Given the description of an element on the screen output the (x, y) to click on. 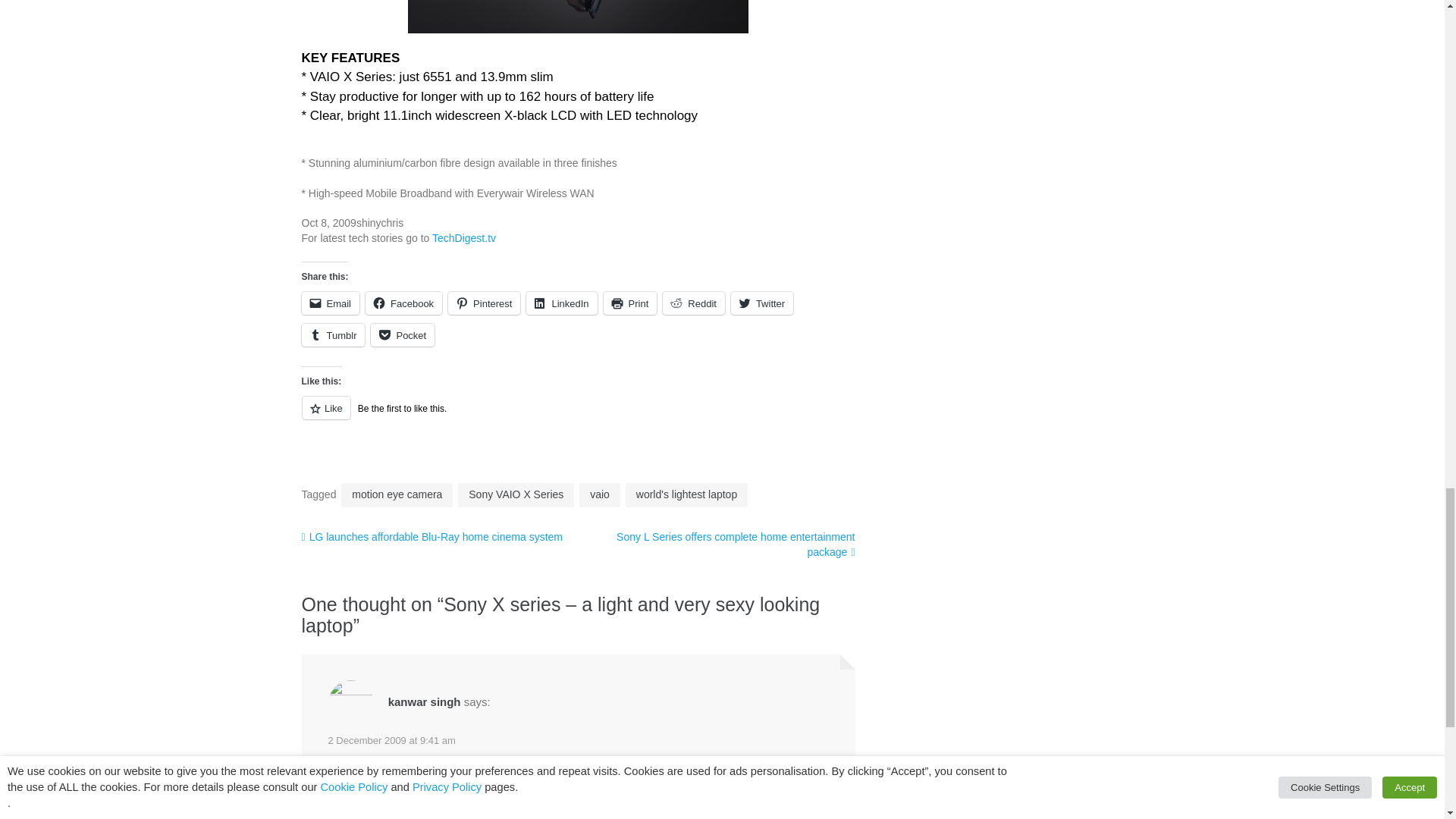
Click to email a link to a friend (330, 302)
Click to share on Reddit (693, 302)
Click to share on Pinterest (483, 302)
Click to share on LinkedIn (560, 302)
Click to share on Facebook (403, 302)
Click to print (631, 302)
